Given the description of an element on the screen output the (x, y) to click on. 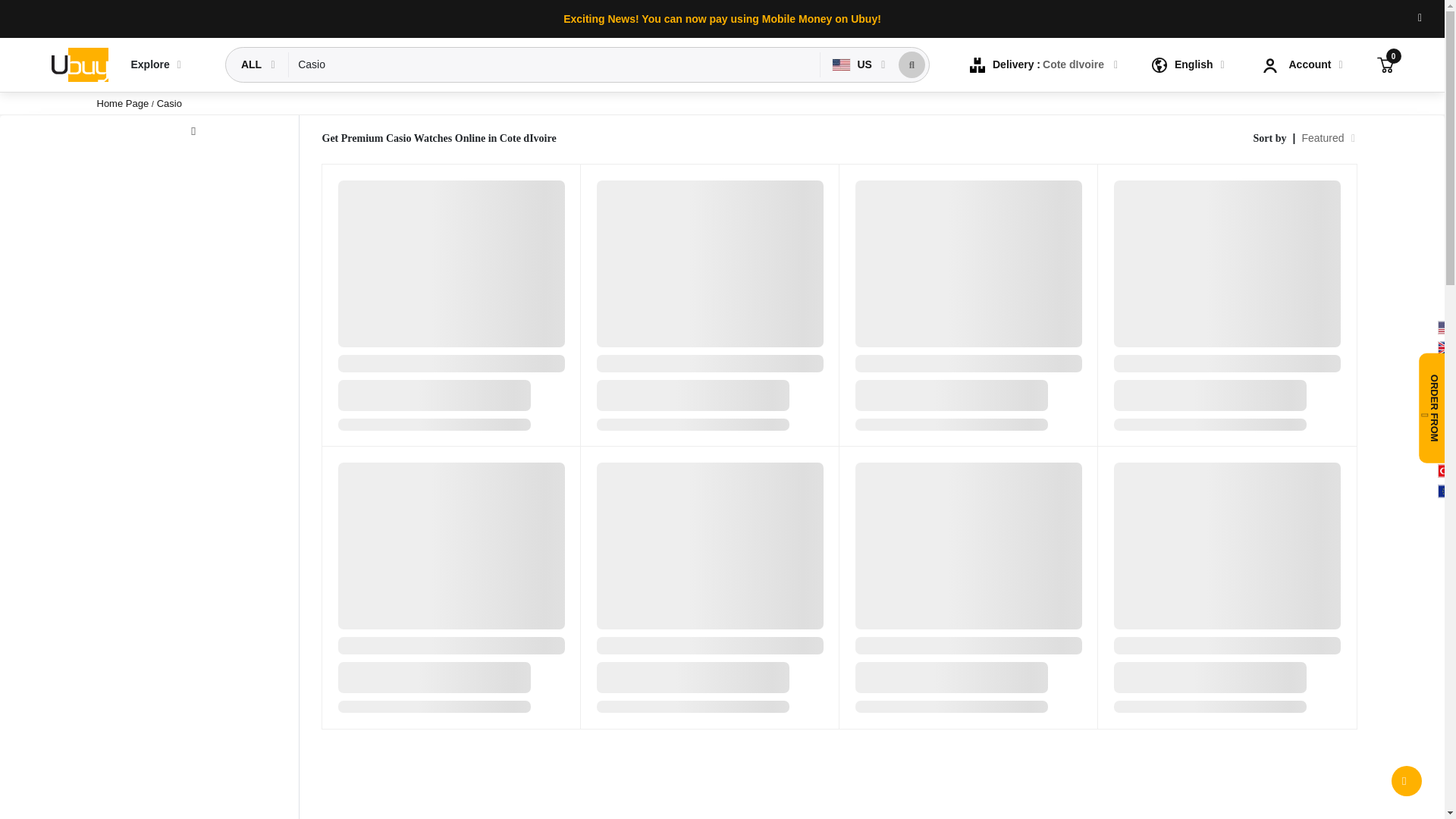
Casio (554, 64)
Ubuy (78, 64)
ALL (253, 64)
US (853, 64)
0 (1385, 64)
